Given the description of an element on the screen output the (x, y) to click on. 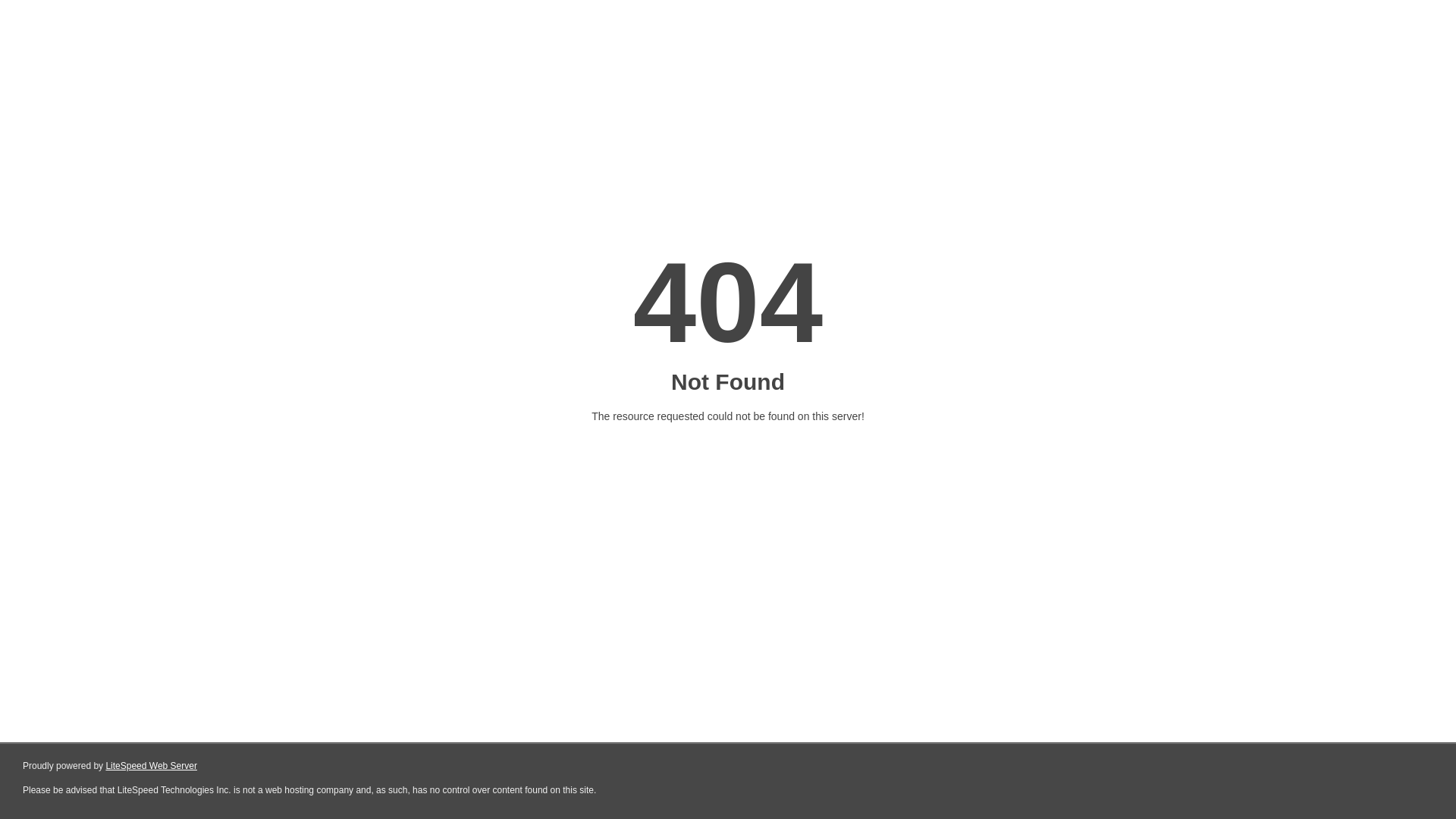
LiteSpeed Web Server Element type: text (151, 765)
